Given the description of an element on the screen output the (x, y) to click on. 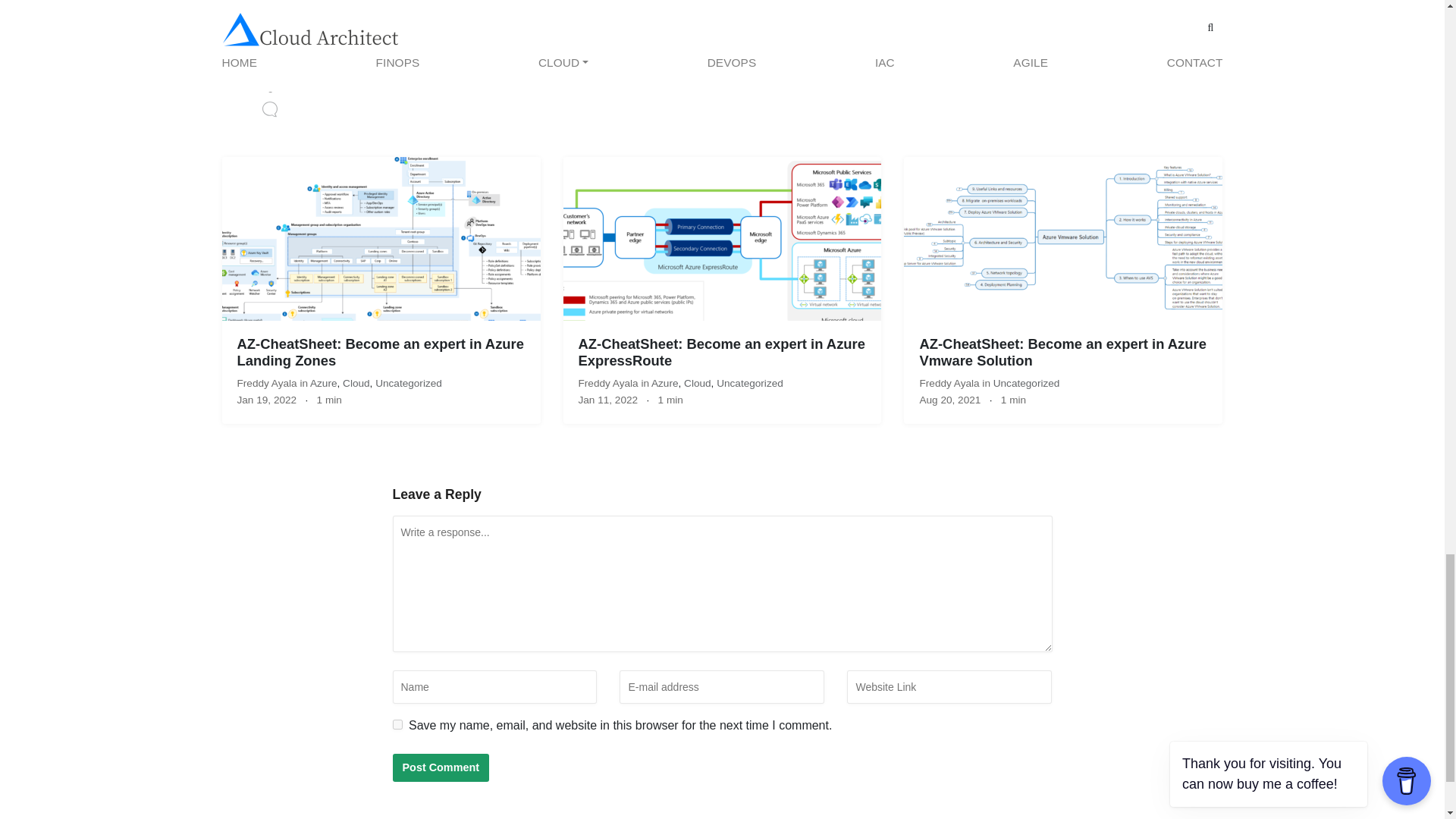
Written by Freddy Ayala (522, 38)
Profile (461, 65)
yes (398, 724)
Post Comment (441, 767)
